Given the description of an element on the screen output the (x, y) to click on. 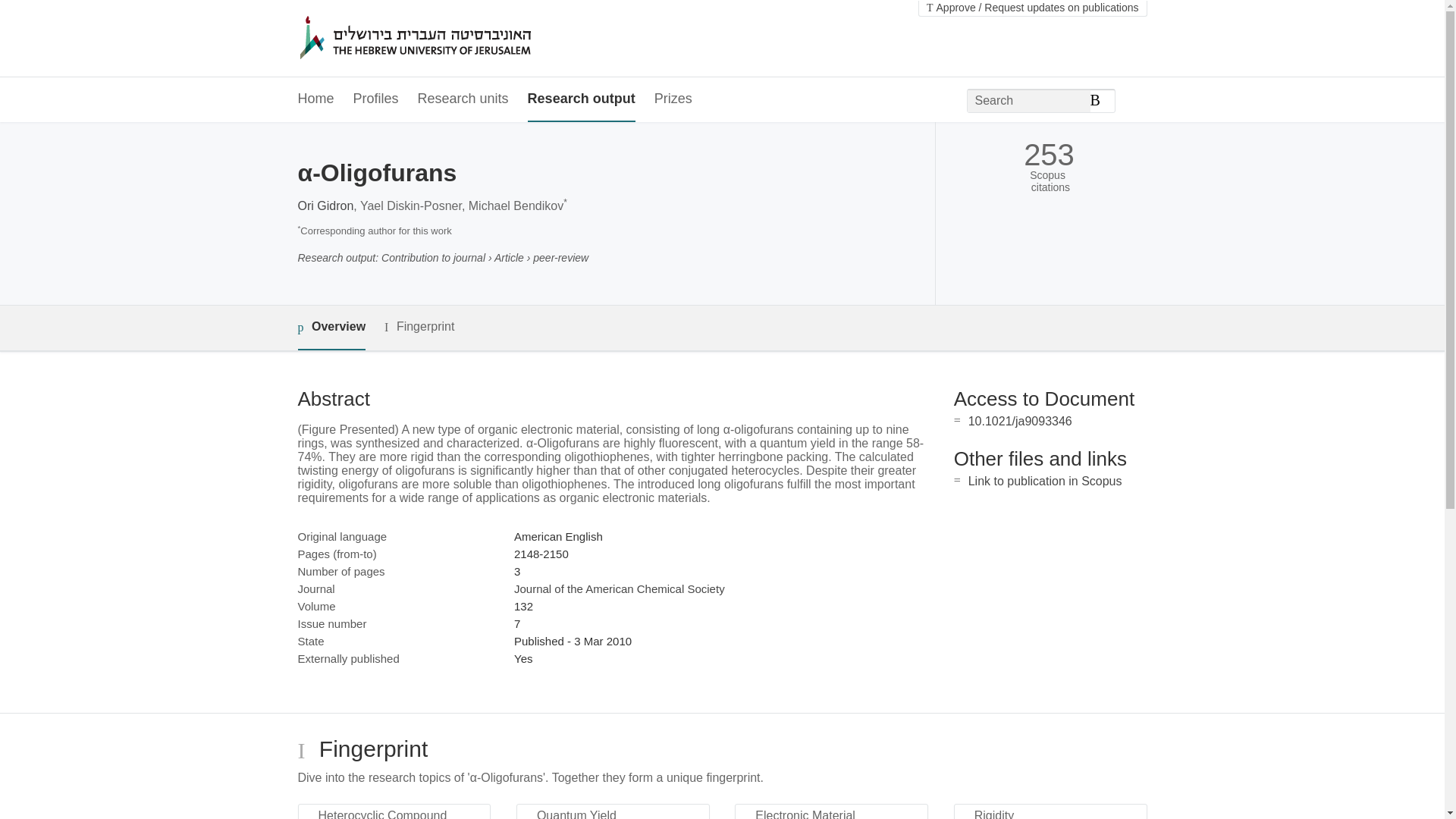
The Hebrew University of Jerusalem Home (447, 38)
Fingerprint (419, 326)
Overview (331, 327)
Journal of the American Chemical Society (619, 588)
Research output (580, 99)
Link to publication in Scopus (1045, 481)
Profiles (375, 99)
Ori Gidron (325, 205)
Research units (462, 99)
